Given the description of an element on the screen output the (x, y) to click on. 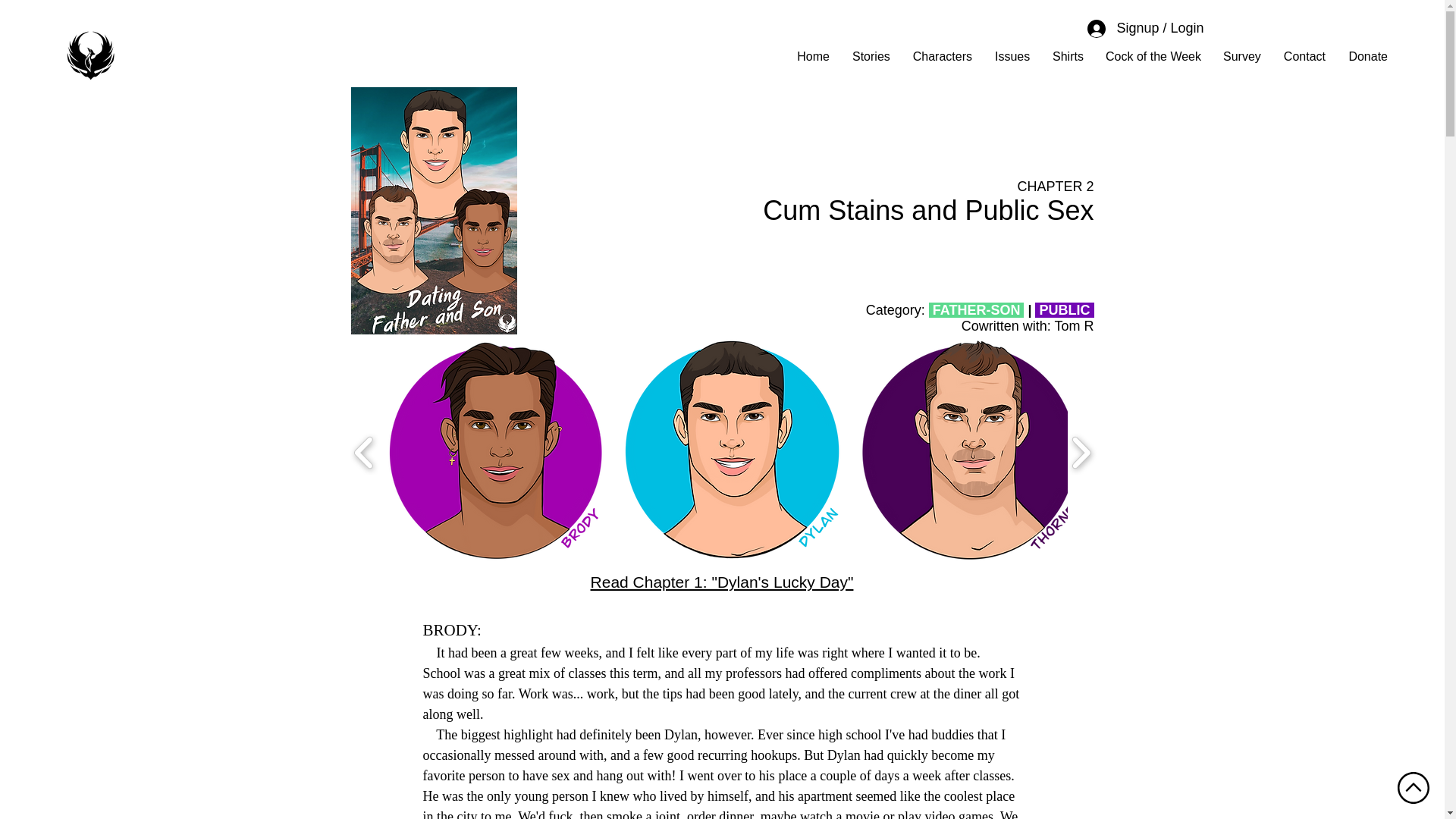
Contact (1303, 56)
Read Chapter 1: "Dylan's Lucky Day" (722, 581)
Home (813, 56)
Stories (871, 56)
Characters (942, 56)
Cock of the Week (1152, 56)
Shirts (1067, 56)
Survey (1241, 56)
Donate (1367, 56)
Issues (1012, 56)
